Given the description of an element on the screen output the (x, y) to click on. 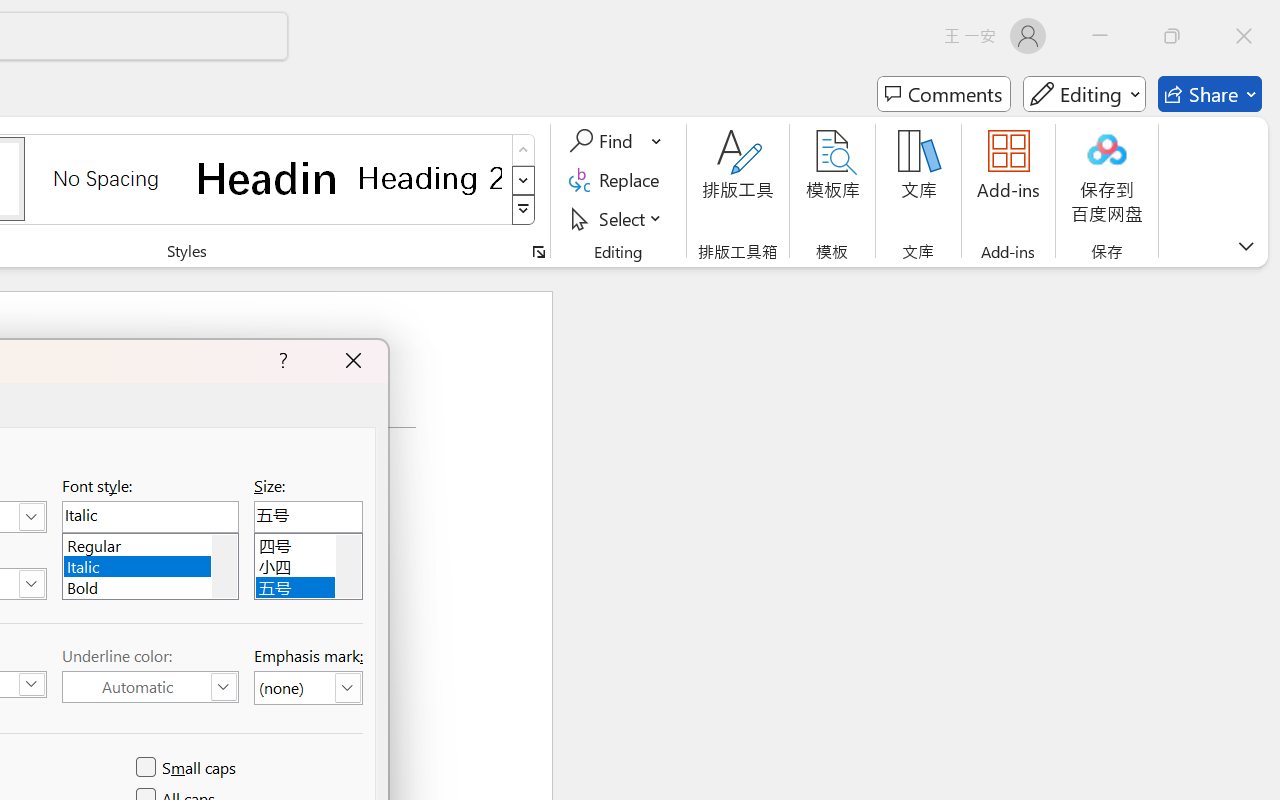
Font style: (150, 516)
Emphasis mark: (308, 687)
Regular (150, 542)
RichEdit Control (308, 516)
Underline Color (Automatic) (150, 687)
AutomationID: 1797 (347, 566)
Bold (150, 585)
